Given the description of an element on the screen output the (x, y) to click on. 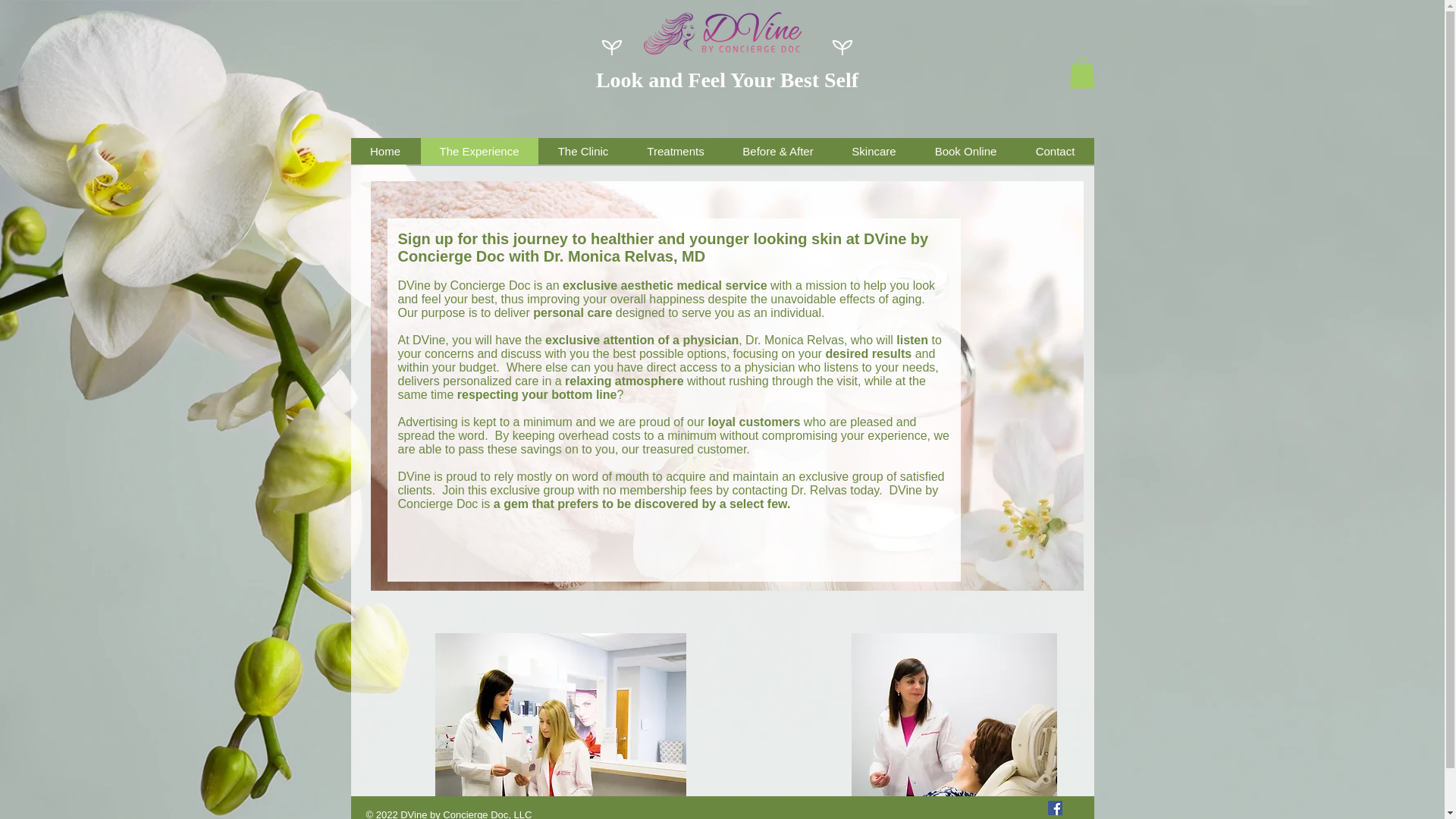
Home (384, 151)
Skincare (873, 151)
Book Online (964, 151)
Treatments (675, 151)
Look and Feel Your Best Self (727, 79)
Contact (1055, 151)
The Experience (479, 151)
The Clinic (582, 151)
